Given the description of an element on the screen output the (x, y) to click on. 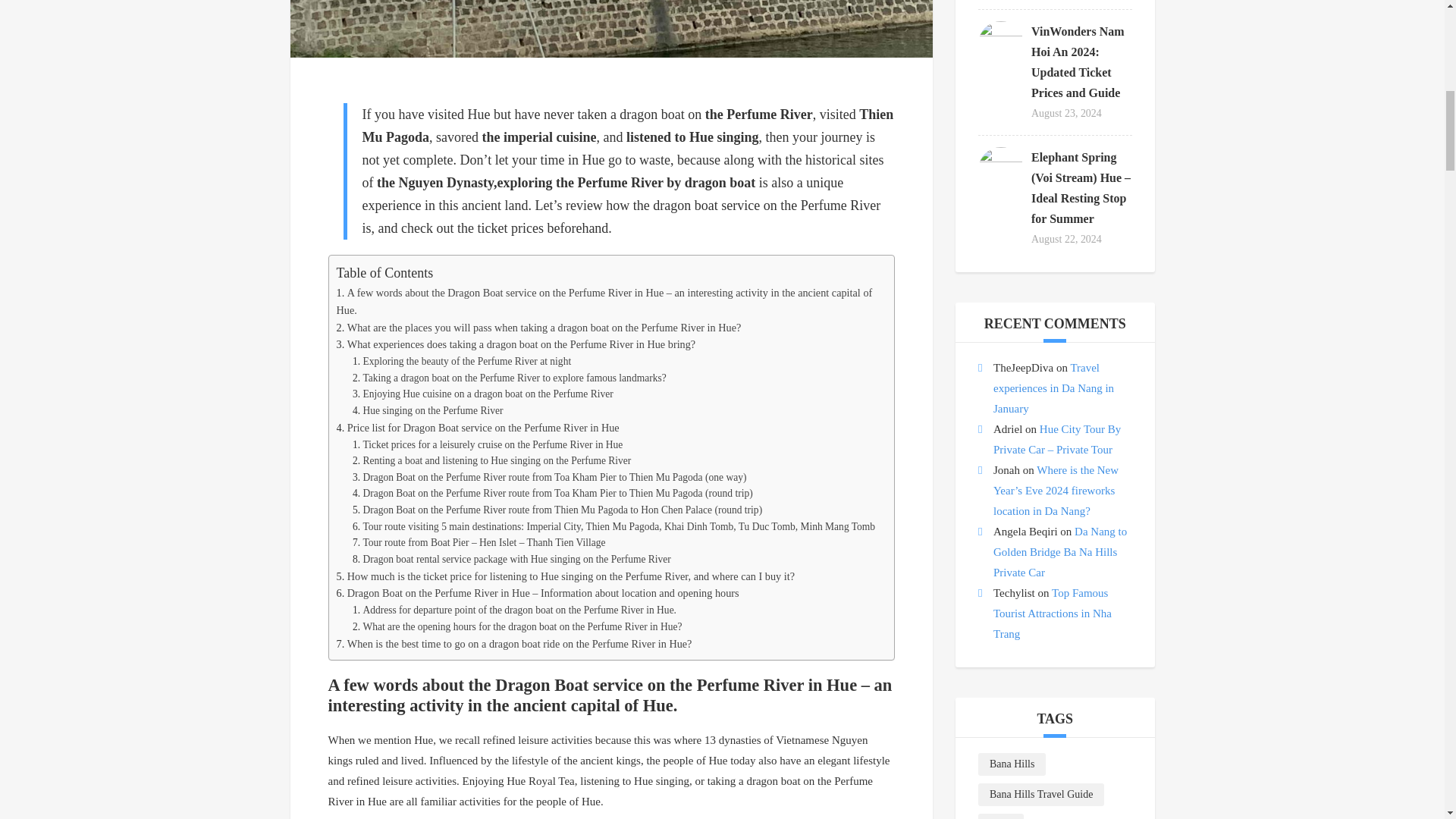
Enjoying Hue cuisine on a dragon boat on the Perfume River (487, 394)
Exploring the beauty of the Perfume River at night (466, 361)
Hue singing on the Perfume River (432, 410)
